Given the description of an element on the screen output the (x, y) to click on. 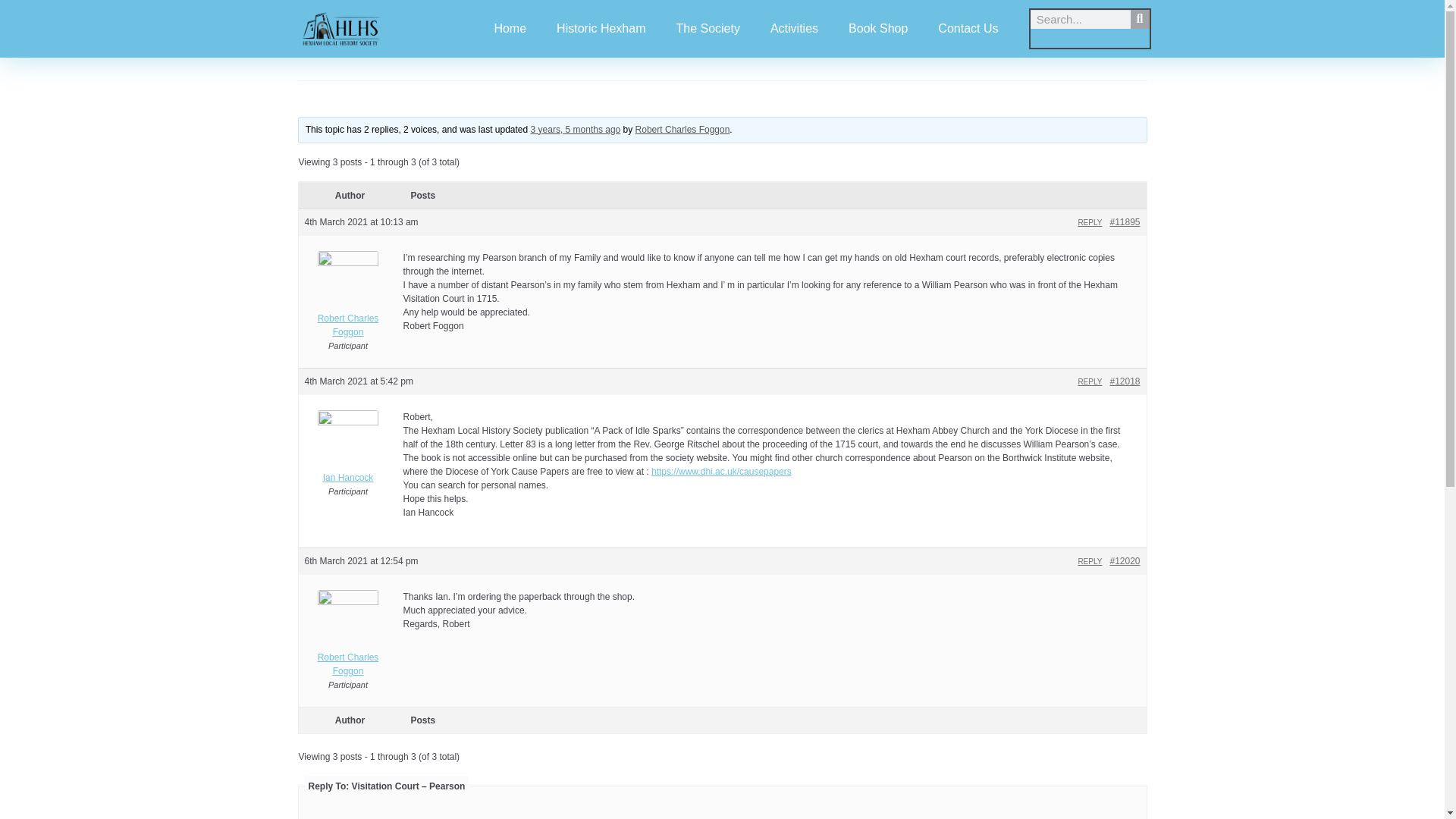
Activities (793, 28)
View Robert Charles Foggon's profile (347, 298)
Historic Hexham (601, 28)
View Robert Charles Foggon's profile (347, 637)
View Robert Charles Foggon's profile (682, 129)
View Ian Hancock's profile (347, 450)
The Society (707, 28)
Home (510, 28)
